Given the description of an element on the screen output the (x, y) to click on. 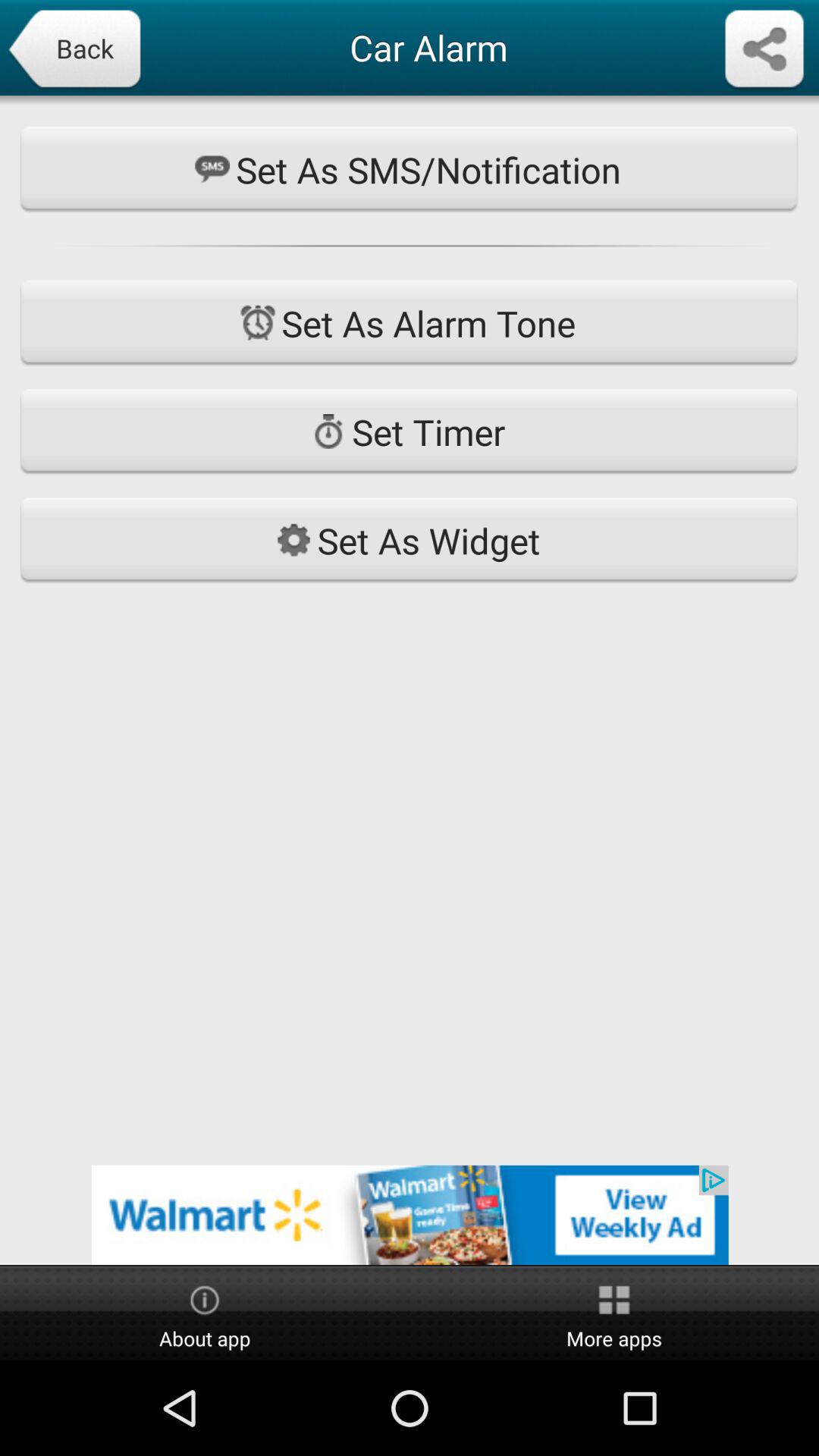
share app data (764, 50)
